Given the description of an element on the screen output the (x, y) to click on. 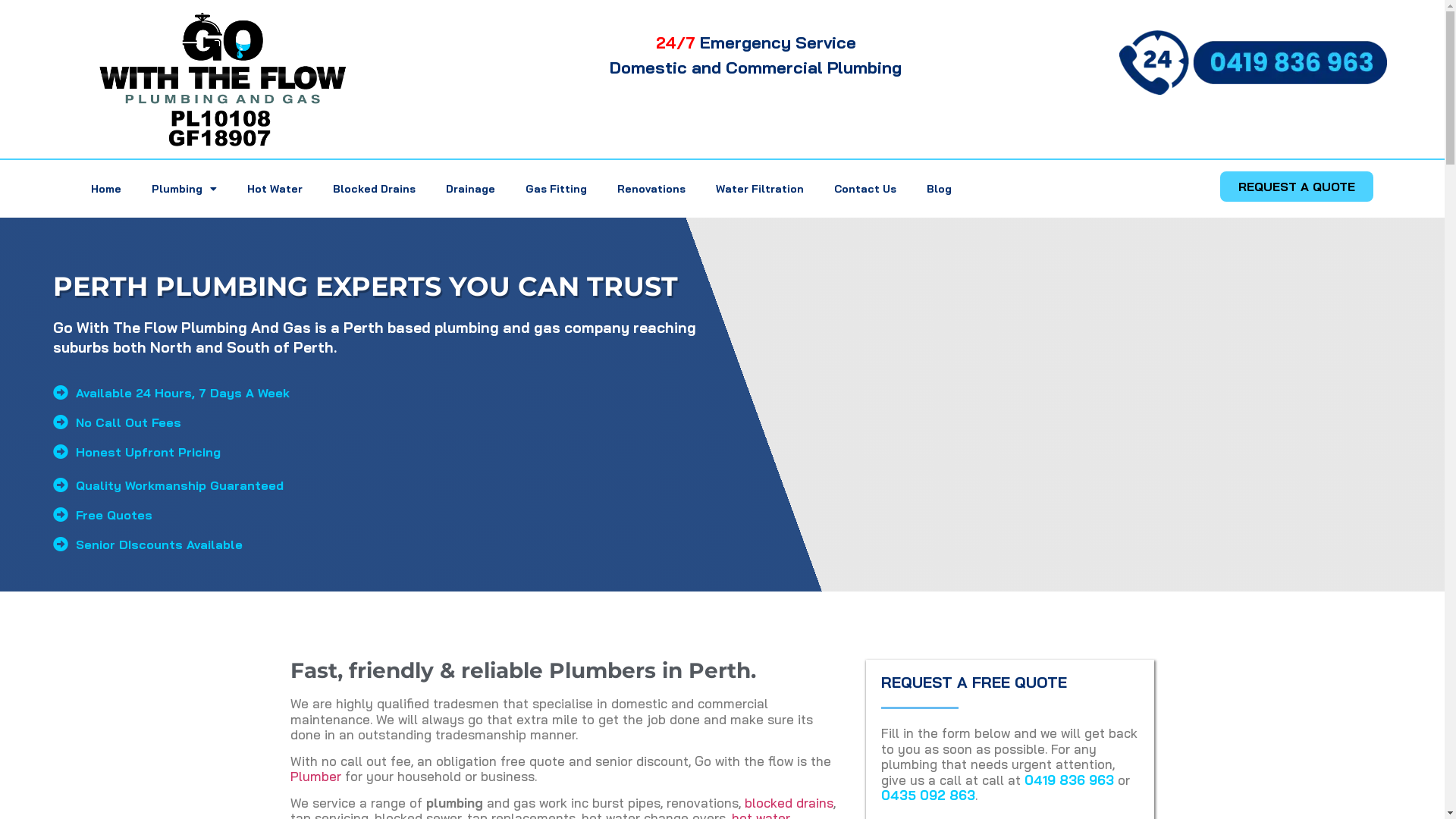
REQUEST A QUOTE Element type: text (1296, 186)
Home Element type: text (105, 188)
blocked drains Element type: text (788, 802)
Plumber Element type: text (314, 776)
Blog Element type: text (938, 188)
0435 092 863 Element type: text (928, 795)
Contact Us Element type: text (865, 188)
Blocked Drains Element type: text (373, 188)
Drainage Element type: text (470, 188)
Plumbing Element type: text (184, 188)
Hot Water Element type: text (274, 188)
Gas Fitting Element type: text (556, 188)
Renovations Element type: text (651, 188)
Water Filtration Element type: text (759, 188)
0419 836 963 Element type: text (1068, 779)
